Given the description of an element on the screen output the (x, y) to click on. 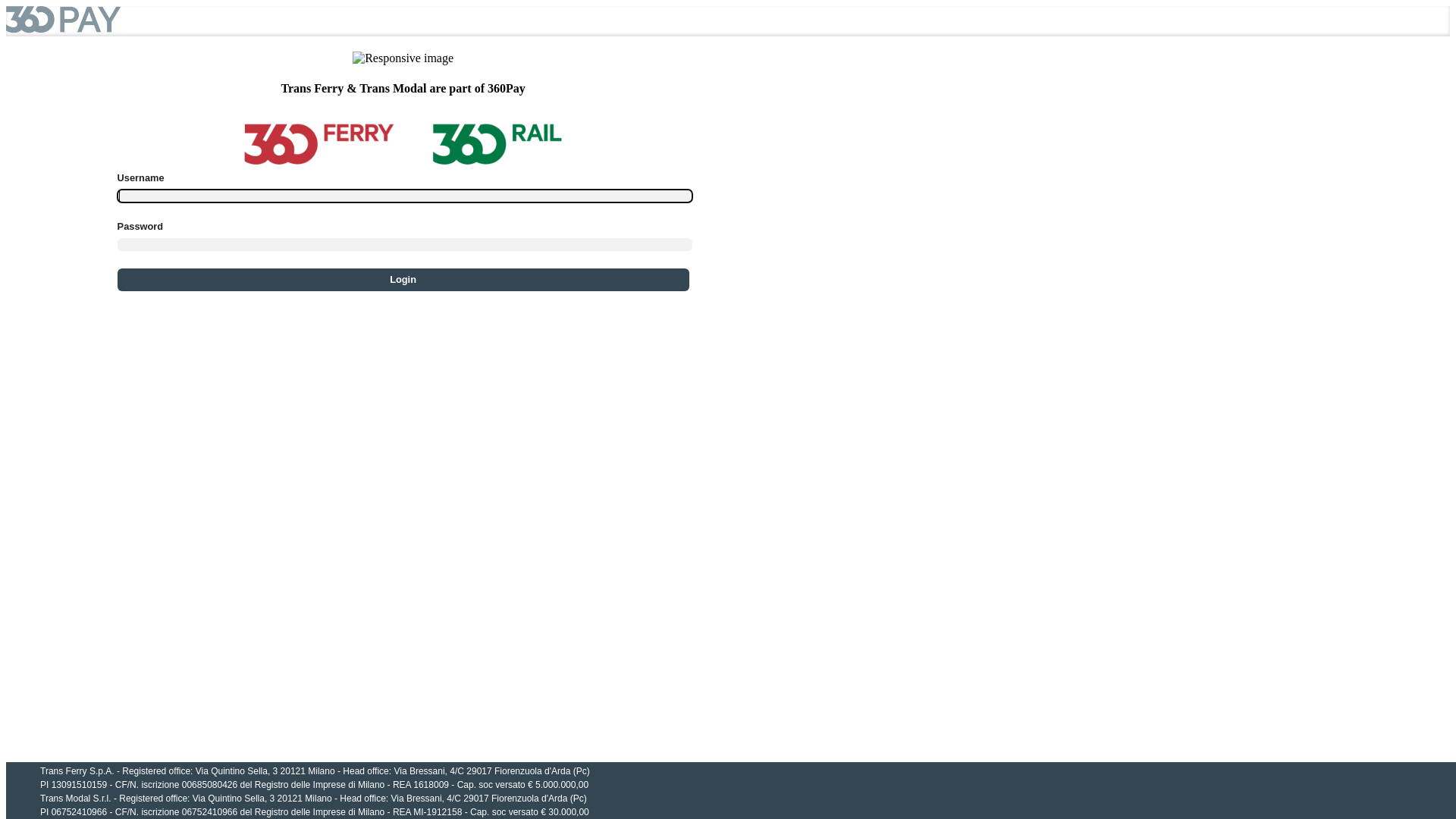
Login Element type: text (403, 279)
